Given the description of an element on the screen output the (x, y) to click on. 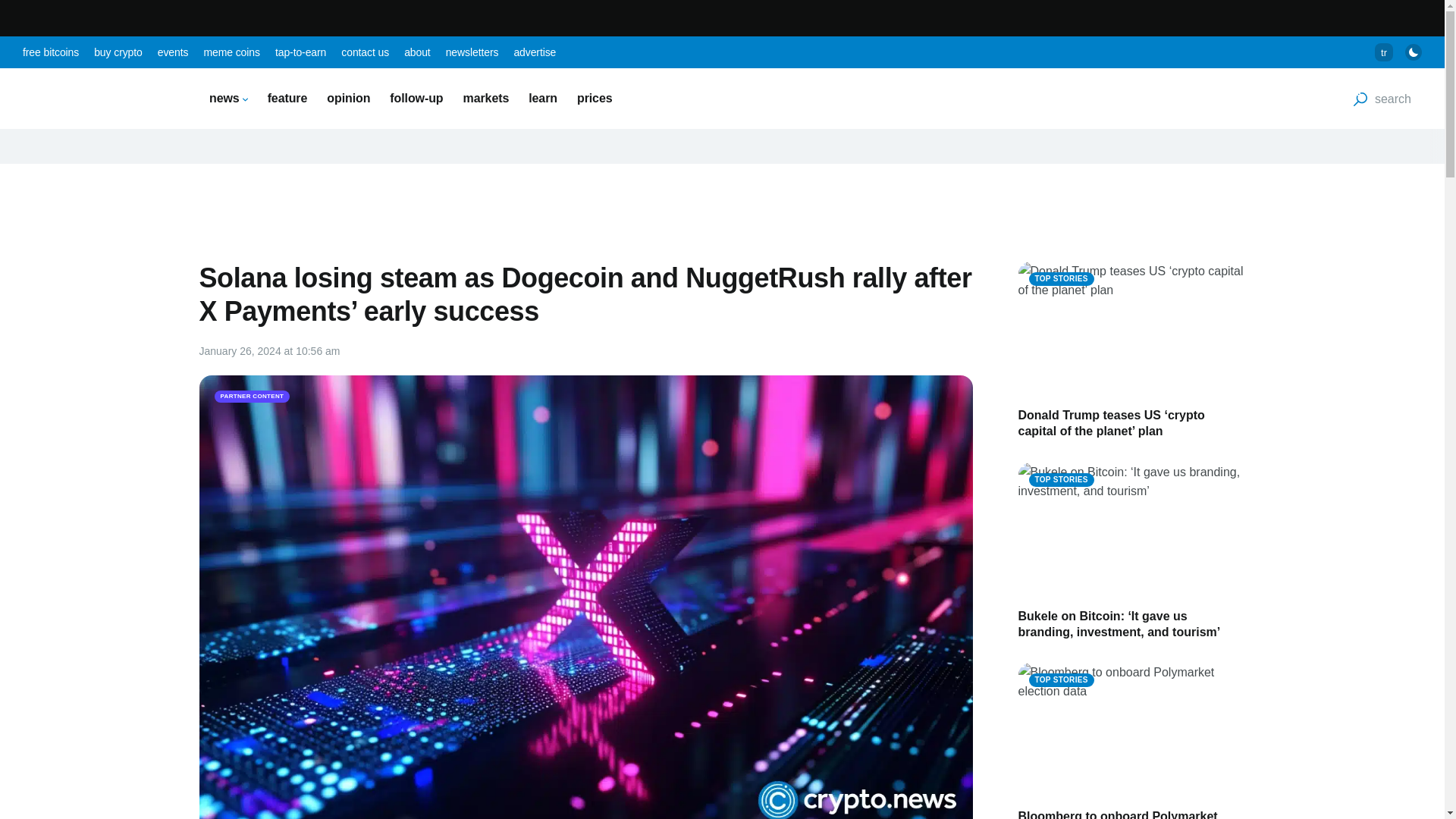
tr (1383, 52)
follow-up (416, 97)
free bitcoins (50, 51)
feature (287, 97)
newsletters (472, 51)
crypto.news (98, 98)
events (173, 51)
advertise (534, 51)
news (228, 97)
tap-to-earn (300, 51)
